Given the description of an element on the screen output the (x, y) to click on. 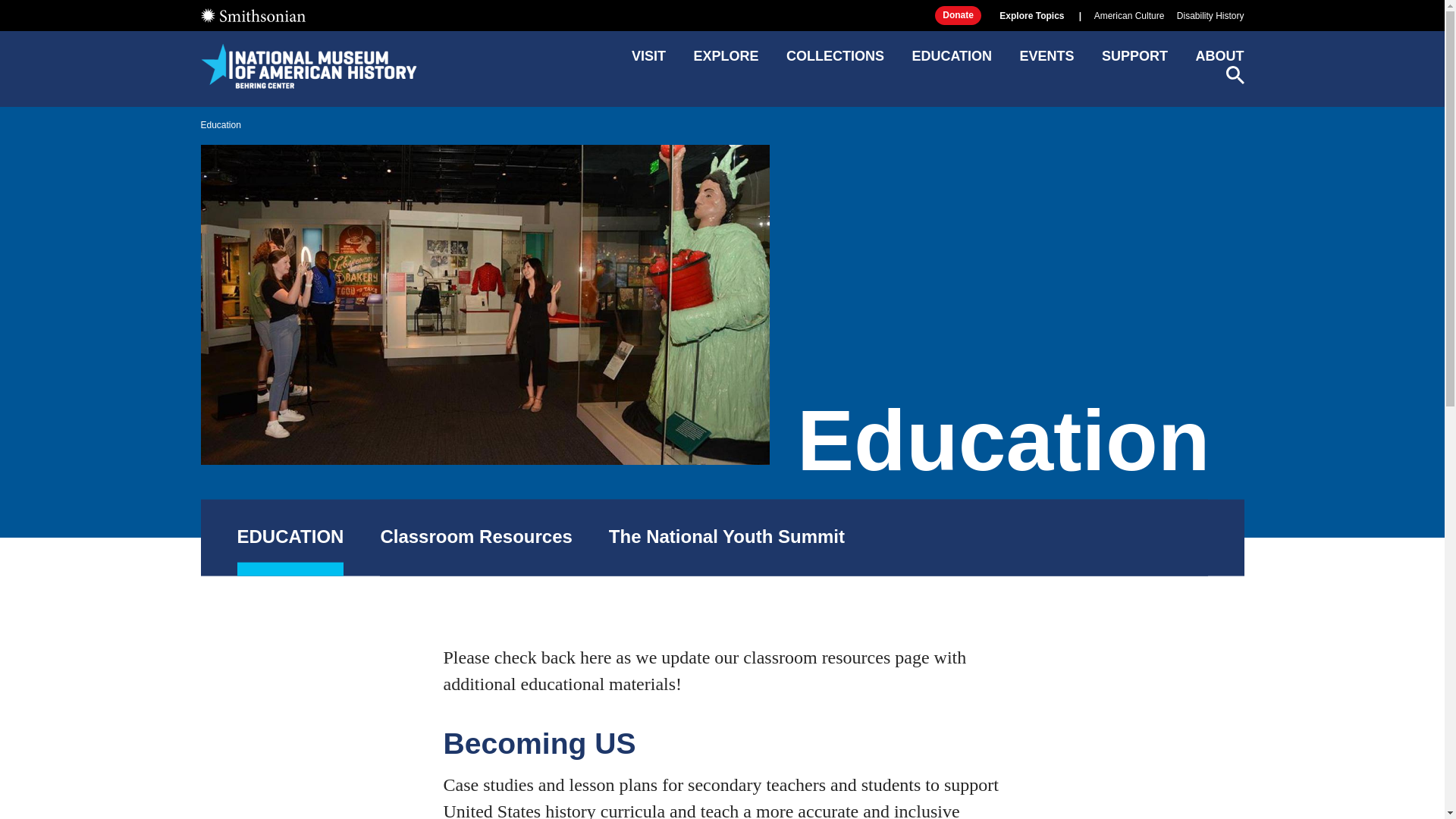
VISIT (648, 60)
Donate (957, 15)
SEARCH (1234, 75)
Classroom Resources (476, 537)
EXPLORE (725, 60)
EDUCATION (289, 537)
The National Youth Summit (726, 537)
COLLECTIONS (834, 60)
Disability History (1210, 15)
SUPPORT (1134, 60)
Smithsonian (252, 15)
American Culture (1129, 15)
EDUCATION (951, 60)
National Museum of American History (308, 65)
ABOUT (1219, 60)
